Given the description of an element on the screen output the (x, y) to click on. 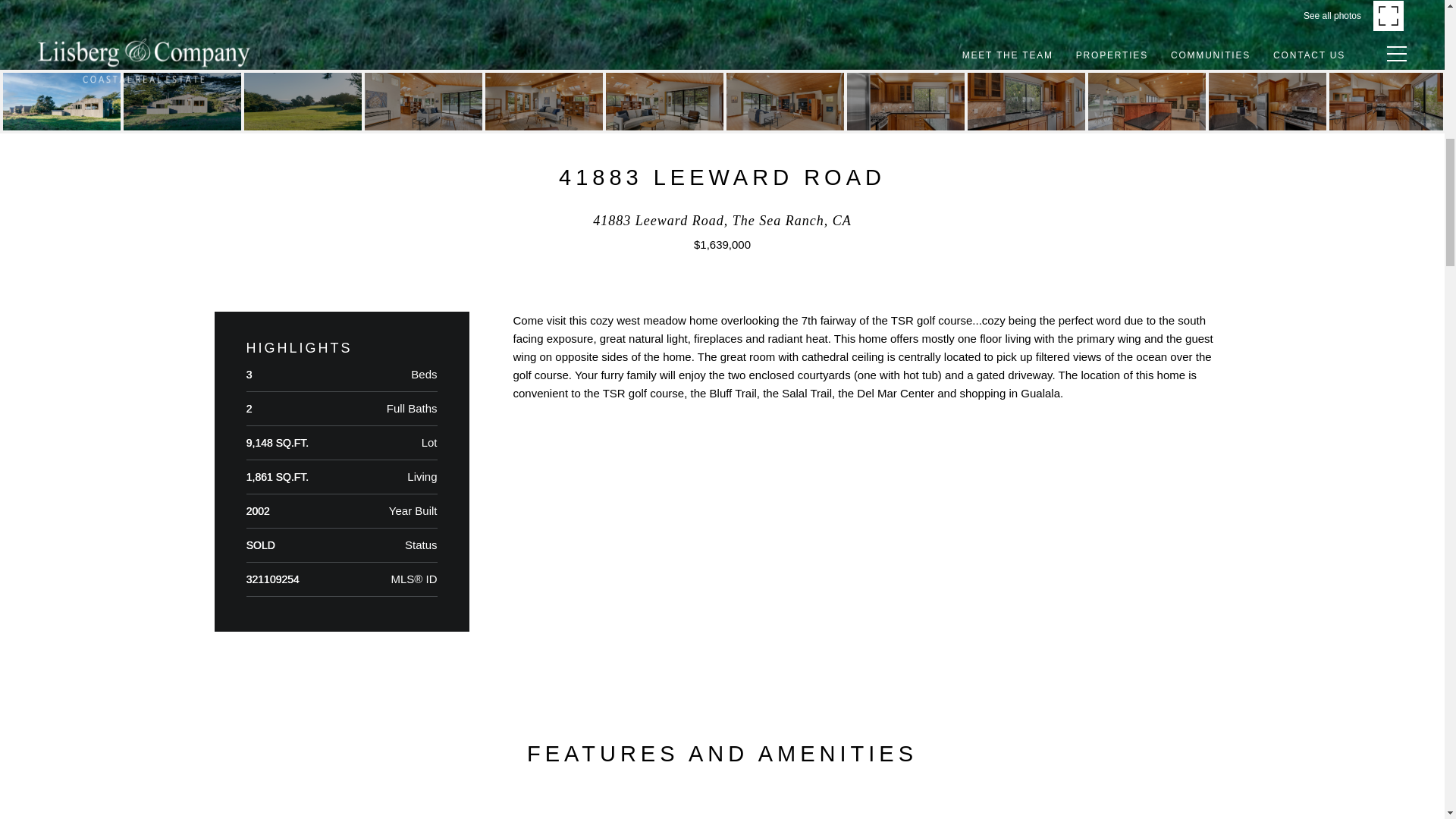
See all photos (1353, 15)
